Given the description of an element on the screen output the (x, y) to click on. 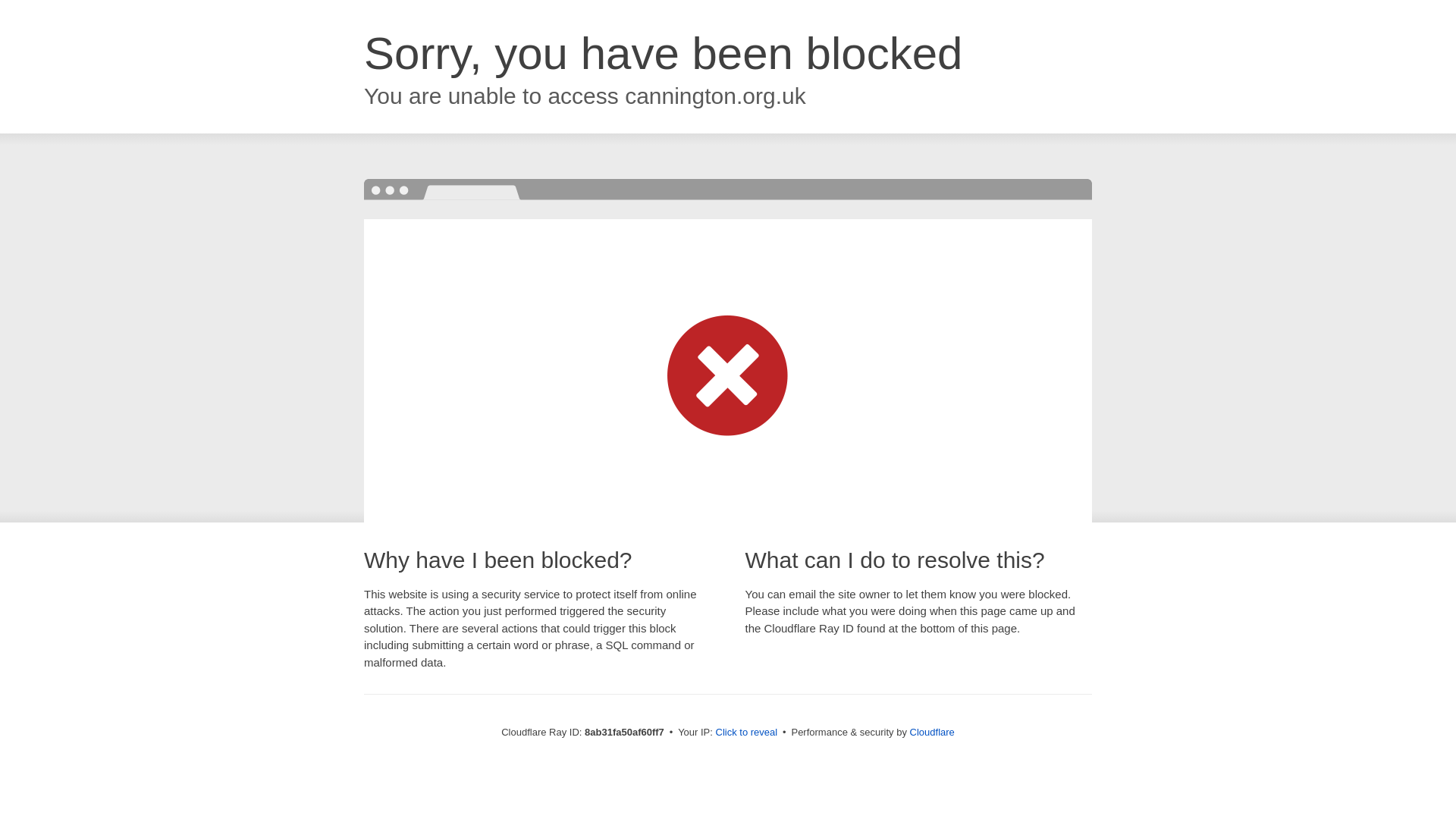
Cloudflare (932, 731)
Click to reveal (746, 732)
